Given the description of an element on the screen output the (x, y) to click on. 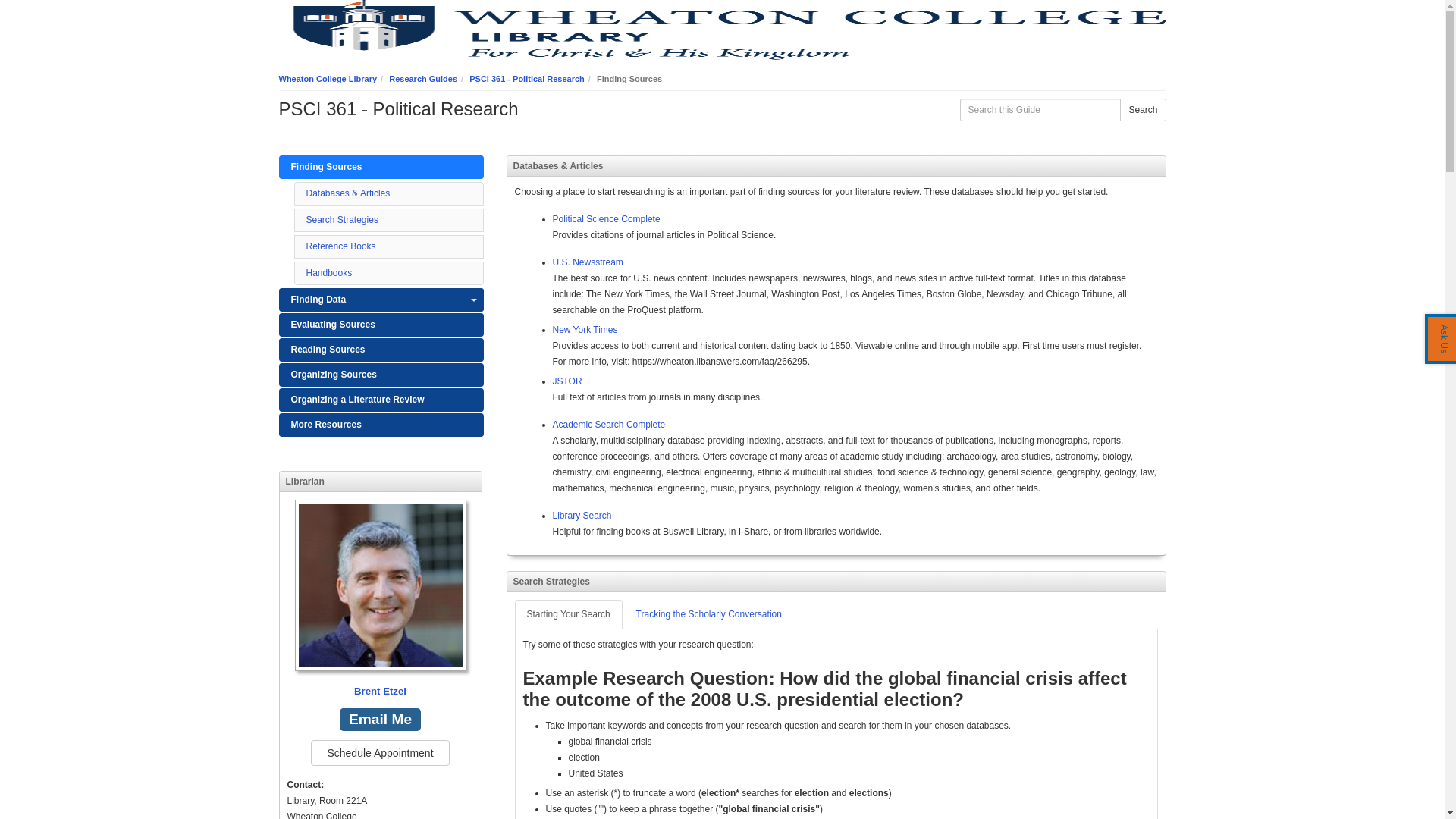
Research Guides (422, 78)
Academic Search Complete (608, 424)
JSTOR (565, 380)
Schedule Appointment (379, 752)
Political Science Complete (605, 218)
More Resources (381, 424)
PSCI 361 - Political Research (526, 78)
Library Search (581, 515)
Brent Etzel (379, 599)
Search Strategies (341, 219)
Finding Sources (381, 167)
Finding Data (381, 300)
Wheaton College Library (328, 78)
Evaluating Sources (381, 324)
Search (1142, 109)
